Given the description of an element on the screen output the (x, y) to click on. 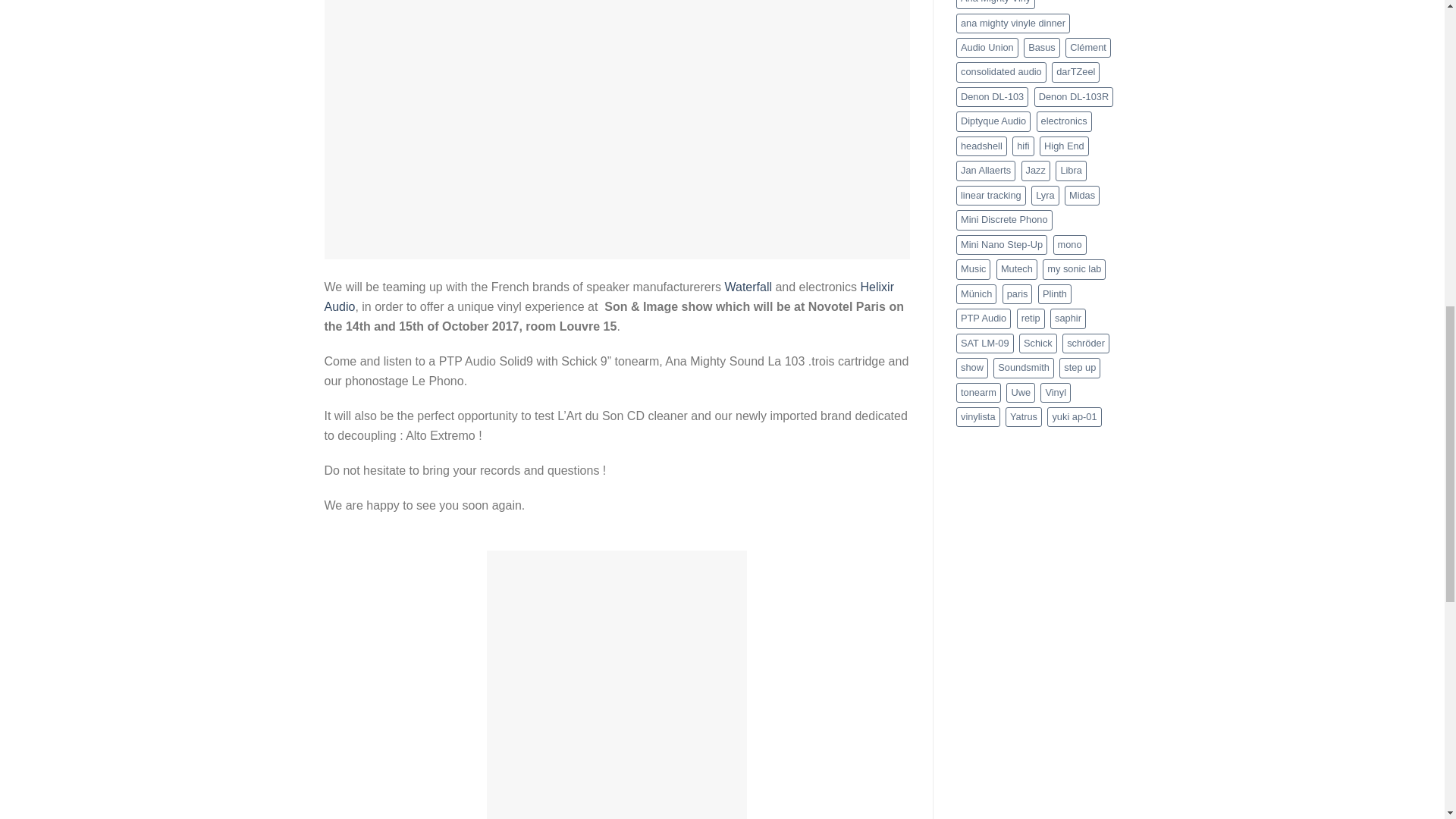
Waterfall (747, 286)
Helixir Audio (608, 296)
